Given the description of an element on the screen output the (x, y) to click on. 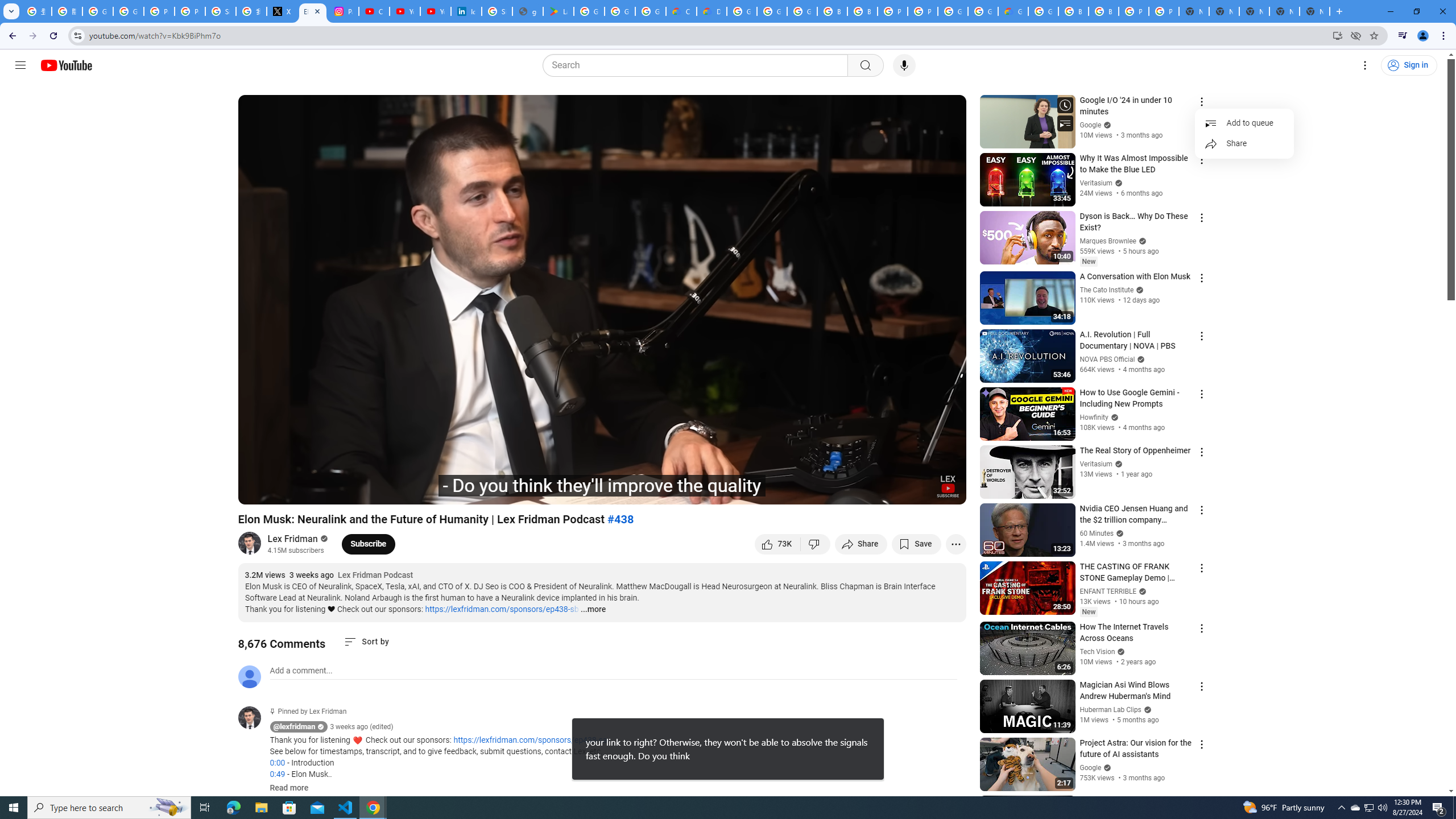
@lexfridman (294, 726)
Seek slider (601, 476)
Subscribe to Lex Fridman. (368, 543)
